Given the description of an element on the screen output the (x, y) to click on. 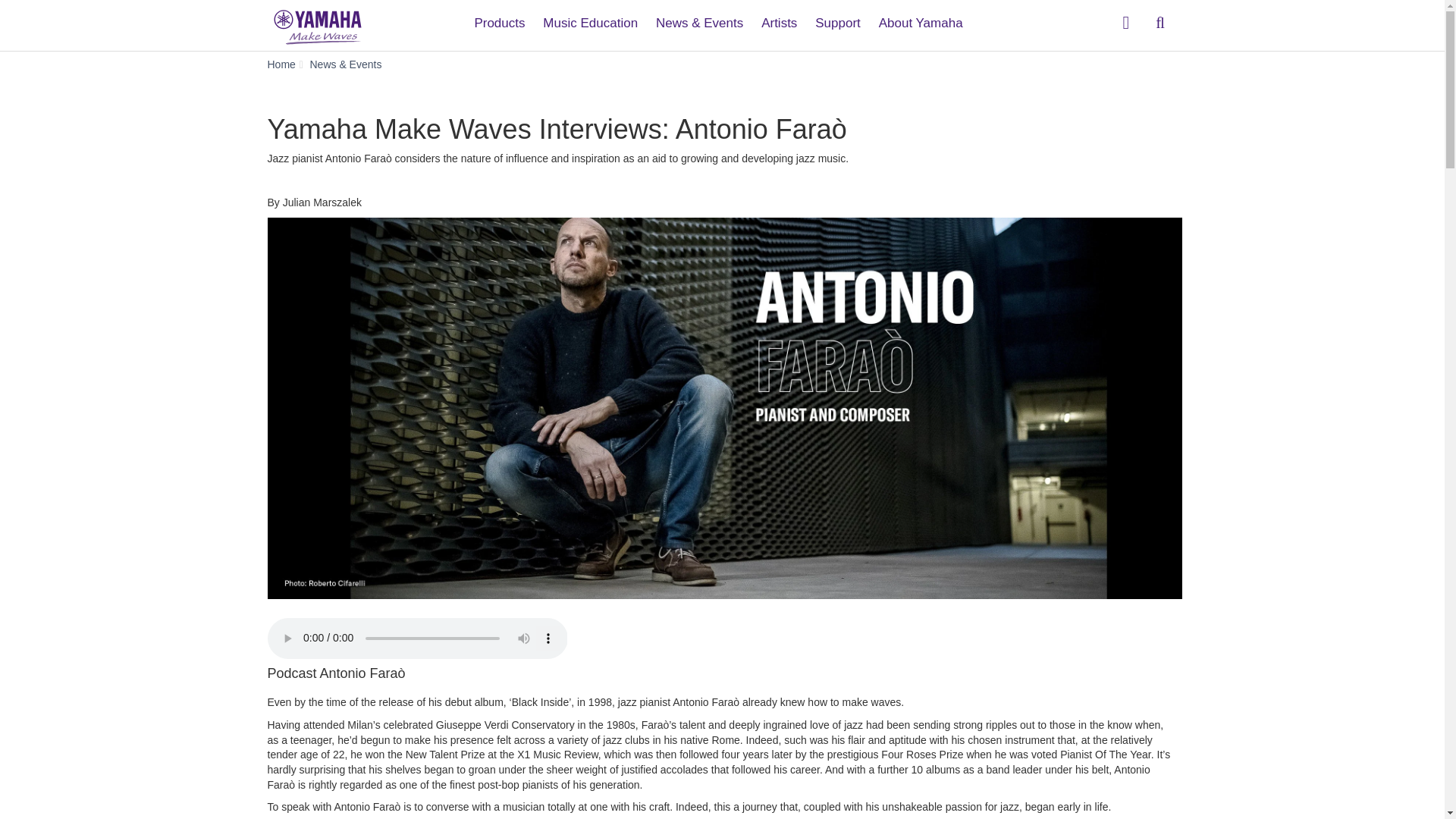
About Yamaha (920, 17)
Support (837, 17)
search (1160, 23)
Music Education (590, 17)
Artists (779, 17)
Products (498, 17)
